Given the description of an element on the screen output the (x, y) to click on. 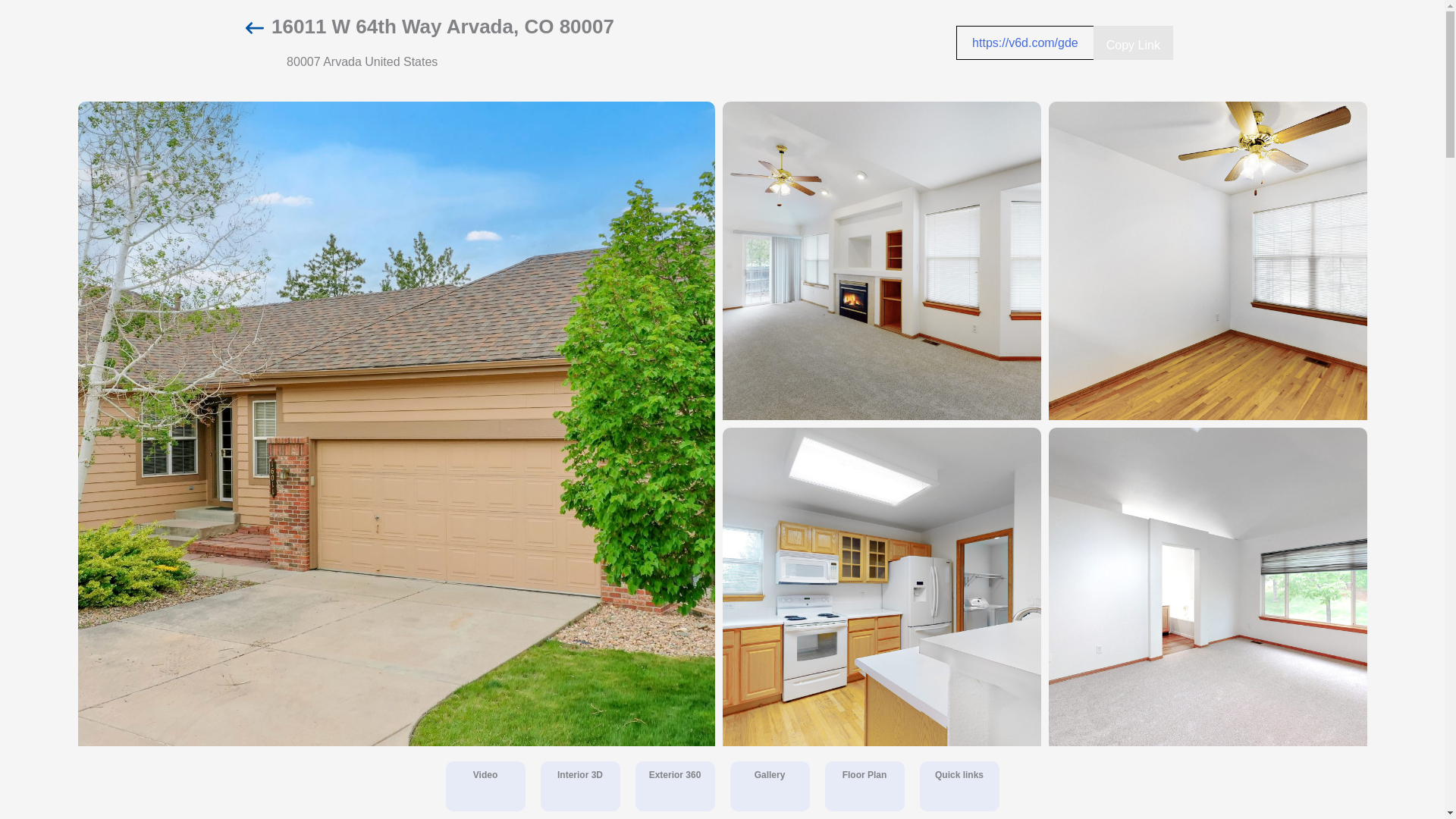
Exterior 360 (675, 775)
Floor Plan (864, 786)
Copy Link (1133, 42)
Floor Plan (864, 775)
Video (485, 786)
Quick links (959, 775)
Interior 3D (580, 786)
Gallery (770, 775)
Quick links (958, 786)
